Given the description of an element on the screen output the (x, y) to click on. 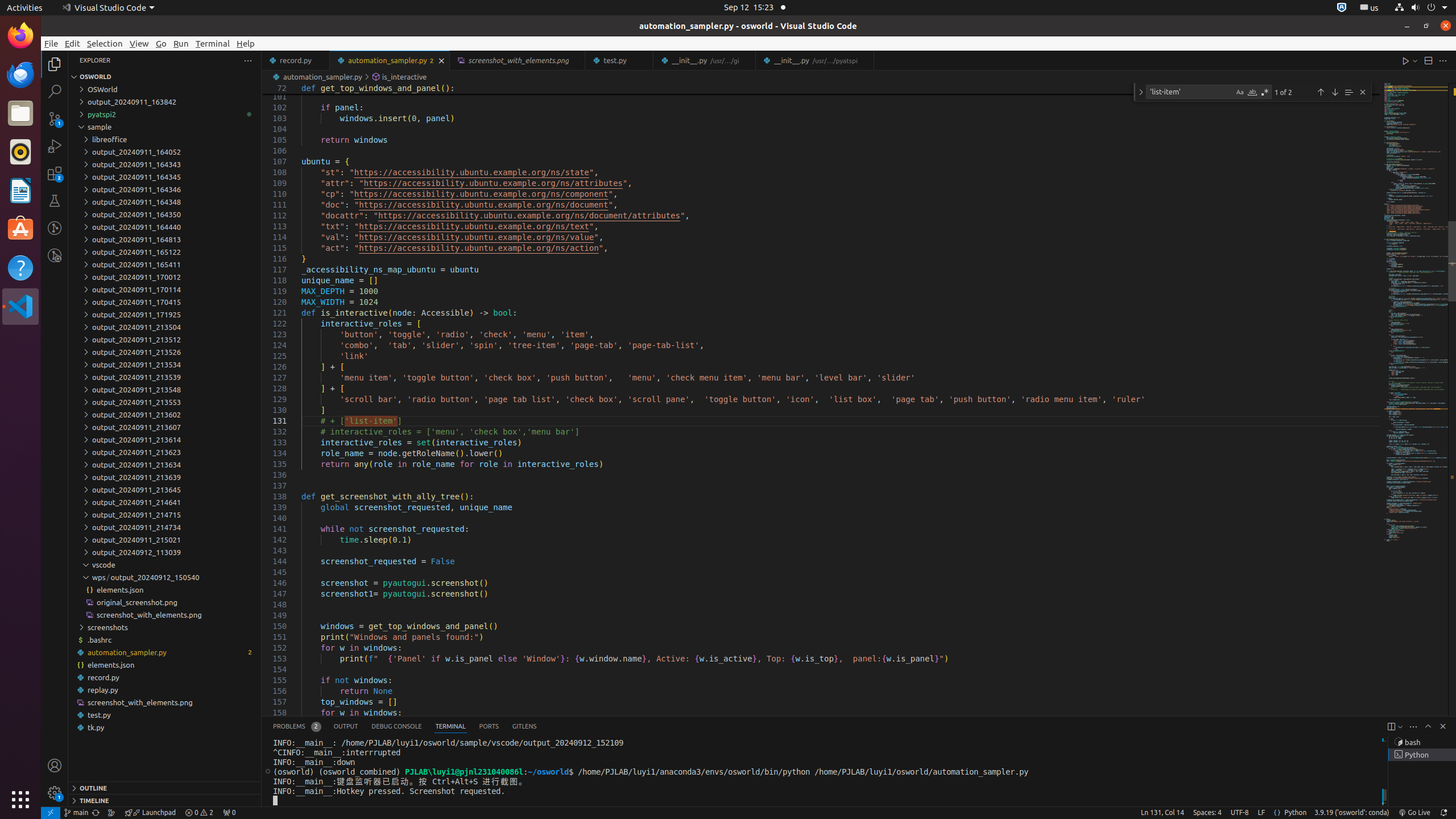
output_20240911_164348 Element type: tree-item (164, 201)
screenshots Element type: tree-item (164, 627)
Ln 131, Col 14 Element type: push-button (1162, 812)
Split Editor Right (Ctrl+\) [Alt] Split Editor Down Element type: push-button (1427, 60)
